Given the description of an element on the screen output the (x, y) to click on. 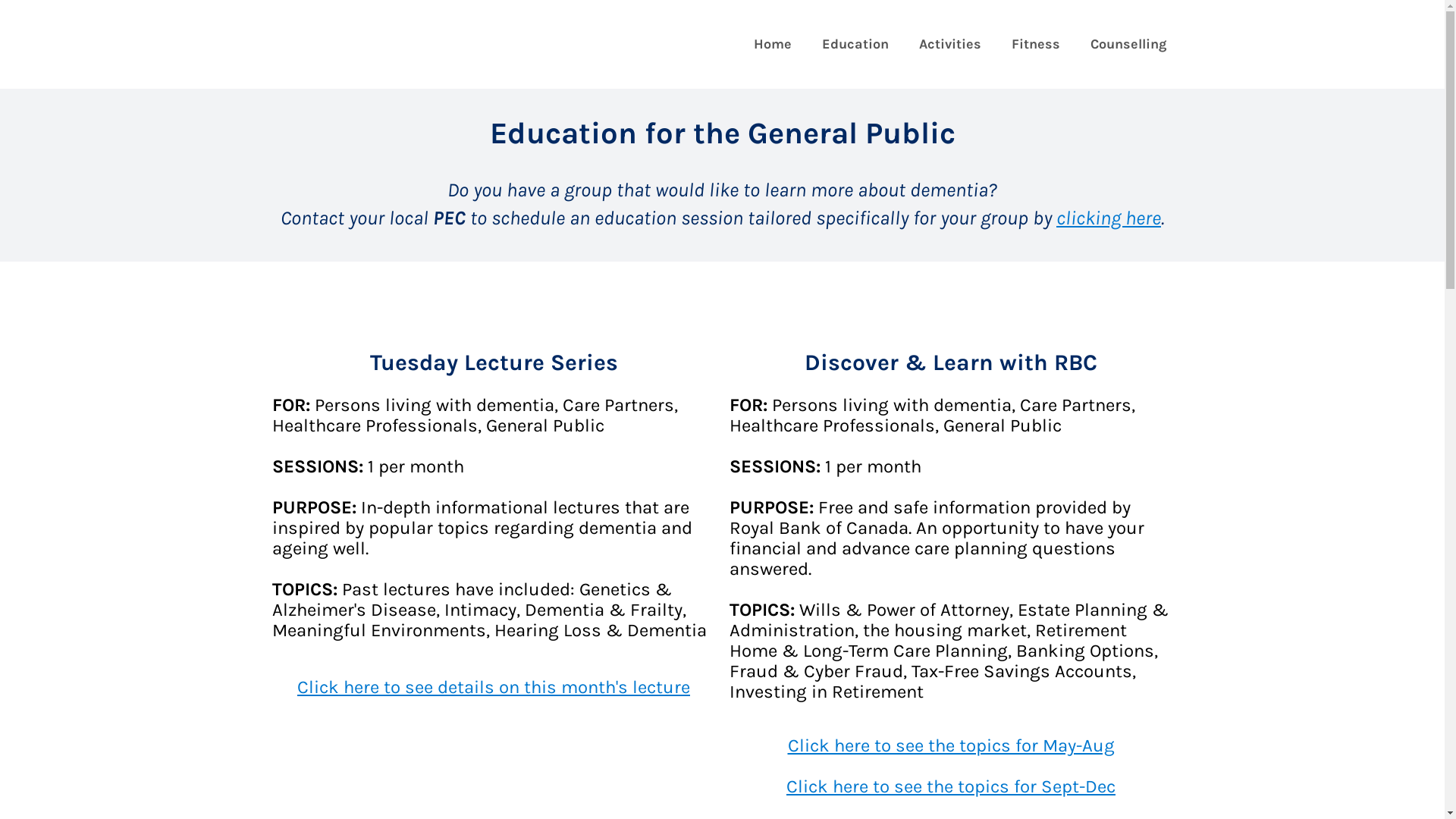
Fitness Element type: text (1035, 43)
Home Element type: text (772, 43)
clicking here Element type: text (1108, 217)
Counselling Element type: text (1128, 43)
Click here to see the topics for Sept-Dec Element type: text (950, 786)
Activities Element type: text (950, 43)
Education Element type: text (855, 43)
Click here to see the topics for May-Aug Element type: text (950, 745)
Click here to see details on this month's lecture Element type: text (493, 686)
